Given the description of an element on the screen output the (x, y) to click on. 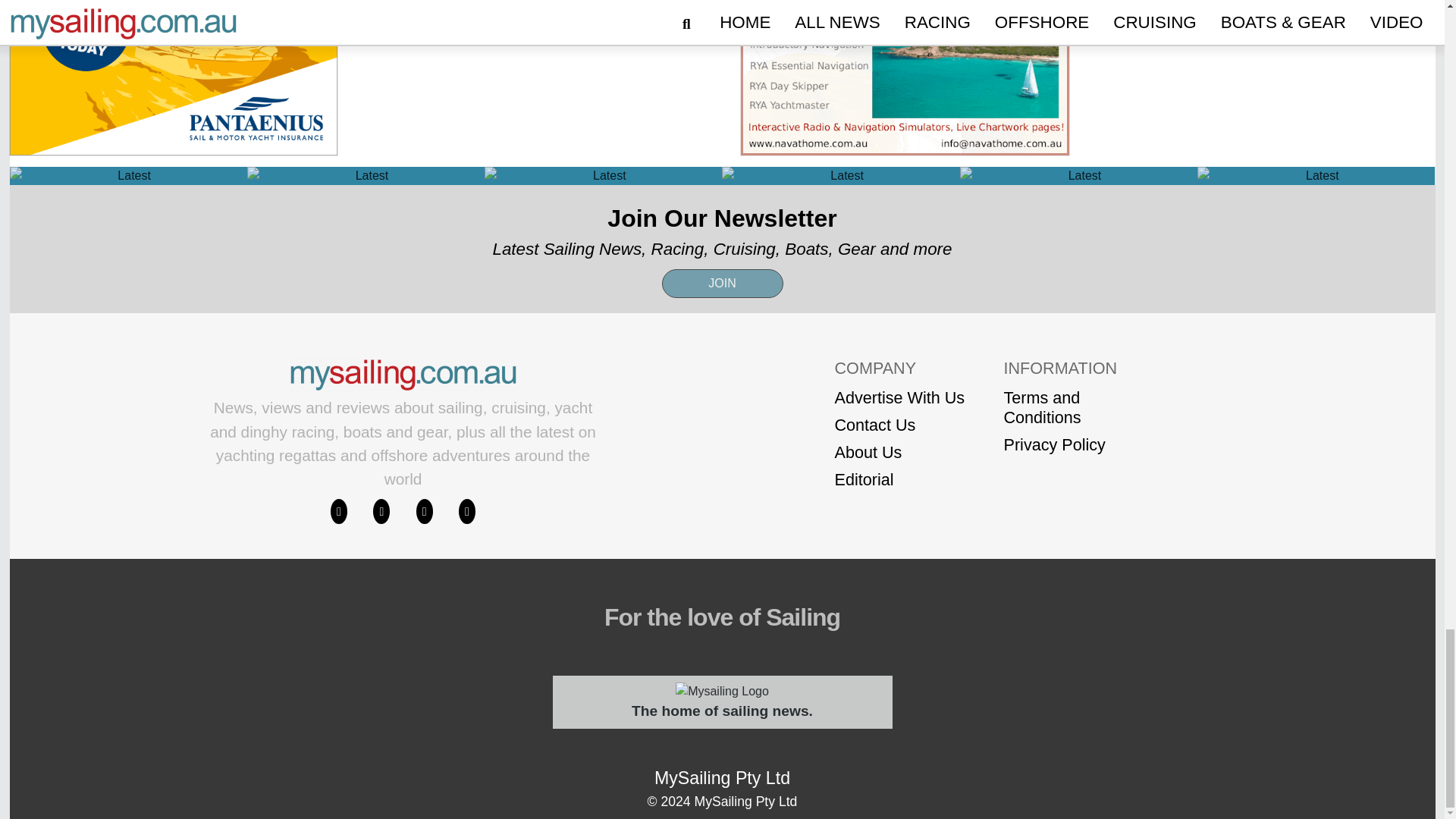
Contact Us (899, 424)
Editorial (899, 479)
About Us (899, 452)
Advertise With Us (899, 397)
